Given the description of an element on the screen output the (x, y) to click on. 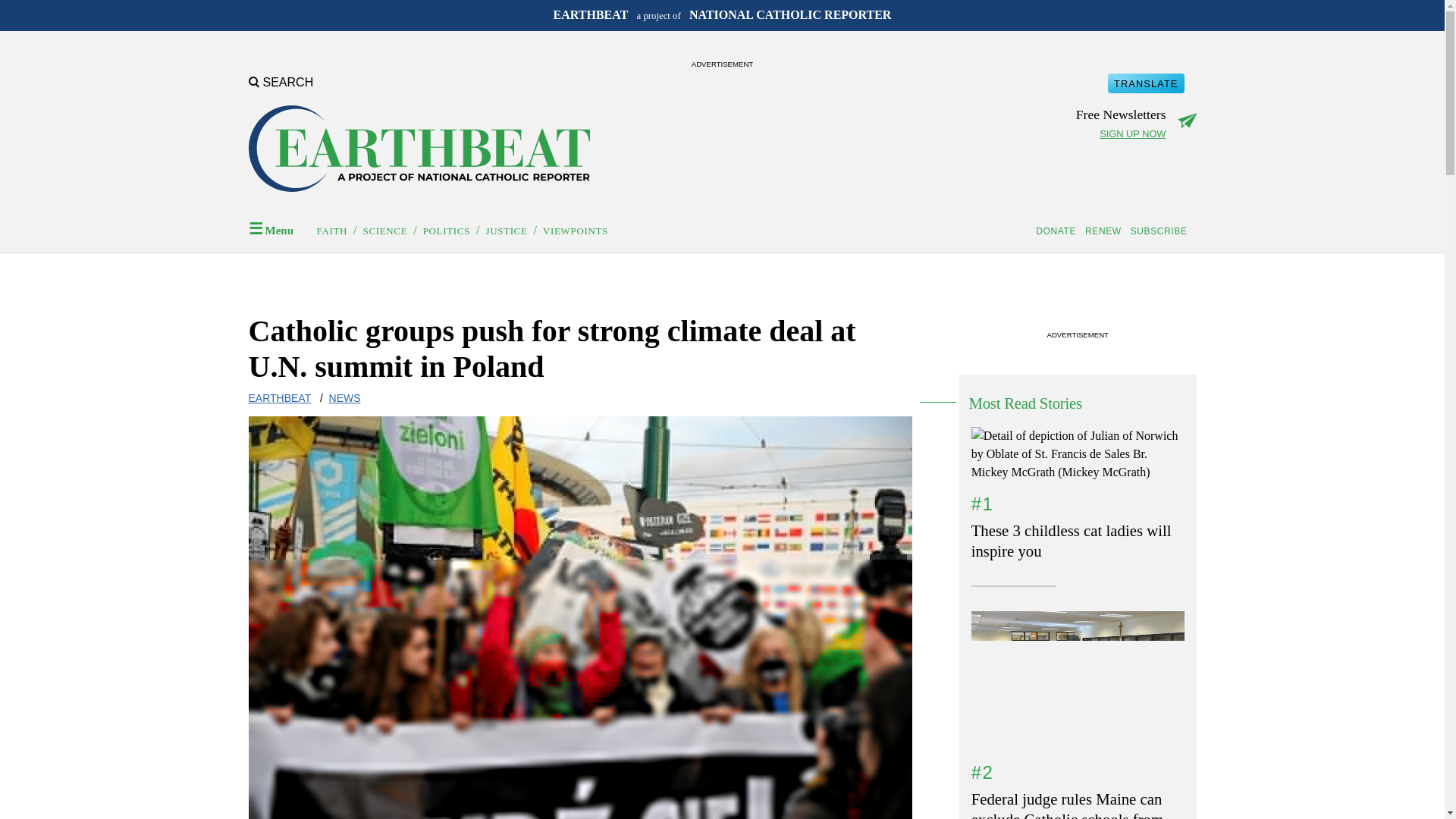
Back to EarthBeat homepage (418, 139)
VIEWPOINTS (575, 230)
SIGN UP NOW (1132, 133)
RENEW (1105, 230)
FAITH (332, 230)
EARTHBEAT (279, 398)
DONATE (1058, 230)
SUBSCRIBE (1162, 230)
POLITICS (446, 230)
TRANSLATE (1145, 83)
